Given the description of an element on the screen output the (x, y) to click on. 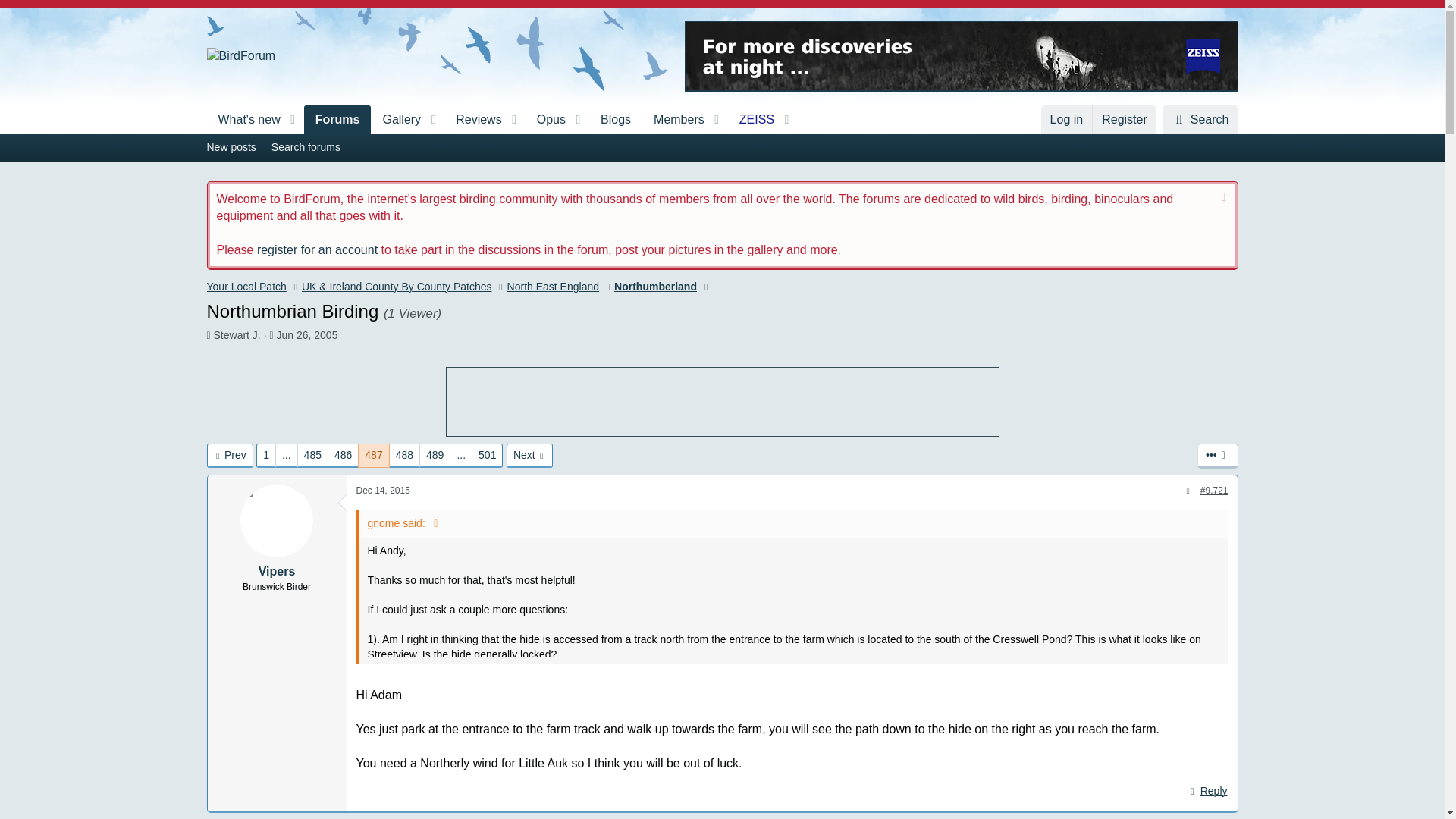
Dec 14, 2015 at 8:17 PM (383, 490)
Reply, quoting this message (1207, 791)
Blogs (615, 119)
Reviews (473, 119)
Jun 26, 2005 at 9:48 PM (306, 335)
Gallery (721, 147)
What's new (396, 119)
Opus (243, 119)
Members (546, 119)
Go to page (674, 119)
Forums (460, 455)
Go to page (501, 119)
